Given the description of an element on the screen output the (x, y) to click on. 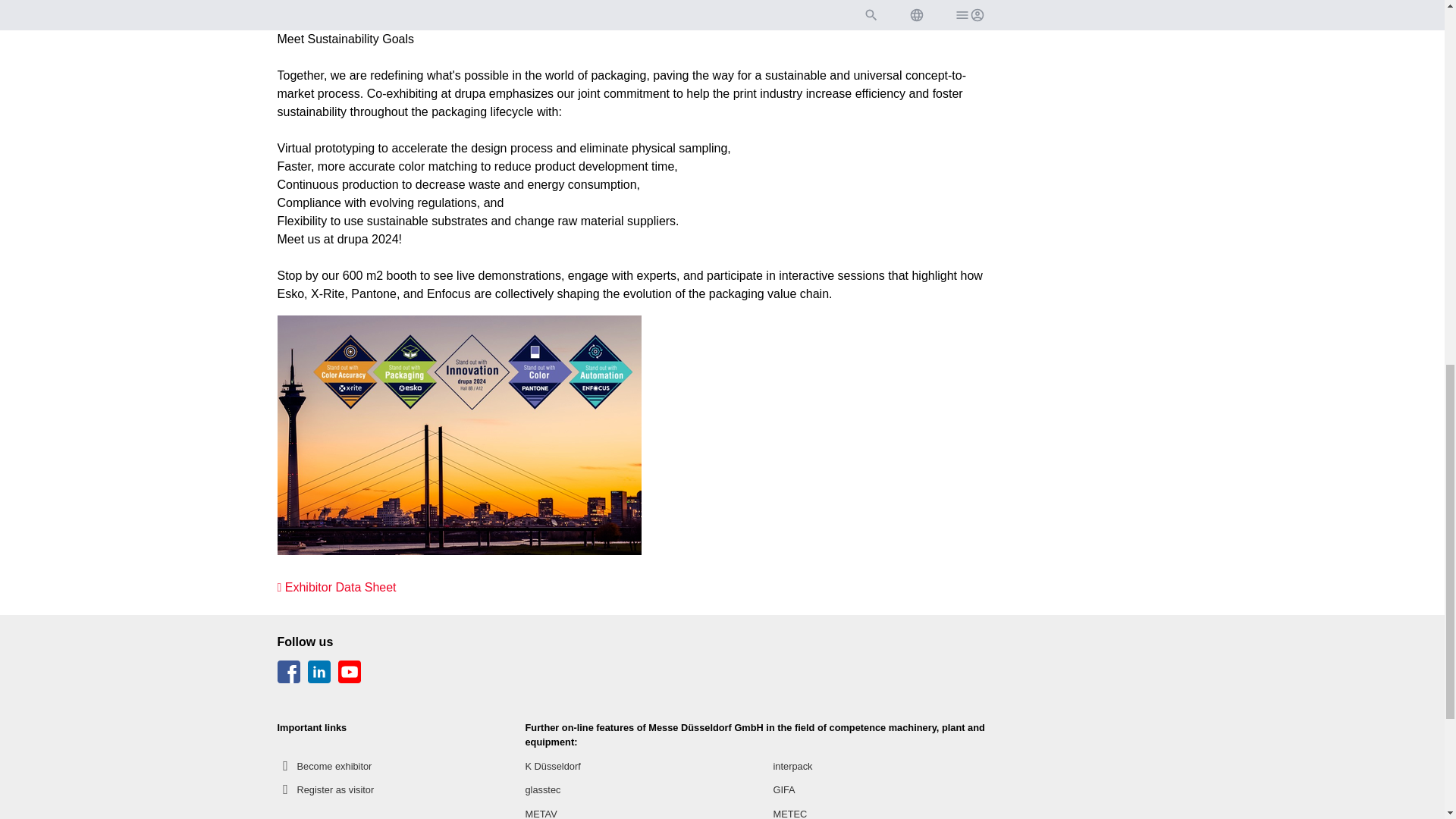
Become exhibitor (325, 766)
Facebook (290, 678)
METAV (540, 810)
Exhibitor Data Sheet (337, 586)
Register as visitor (326, 789)
glasstec (542, 789)
interpack (792, 766)
GIFA (783, 789)
METEC (790, 810)
